Given the description of an element on the screen output the (x, y) to click on. 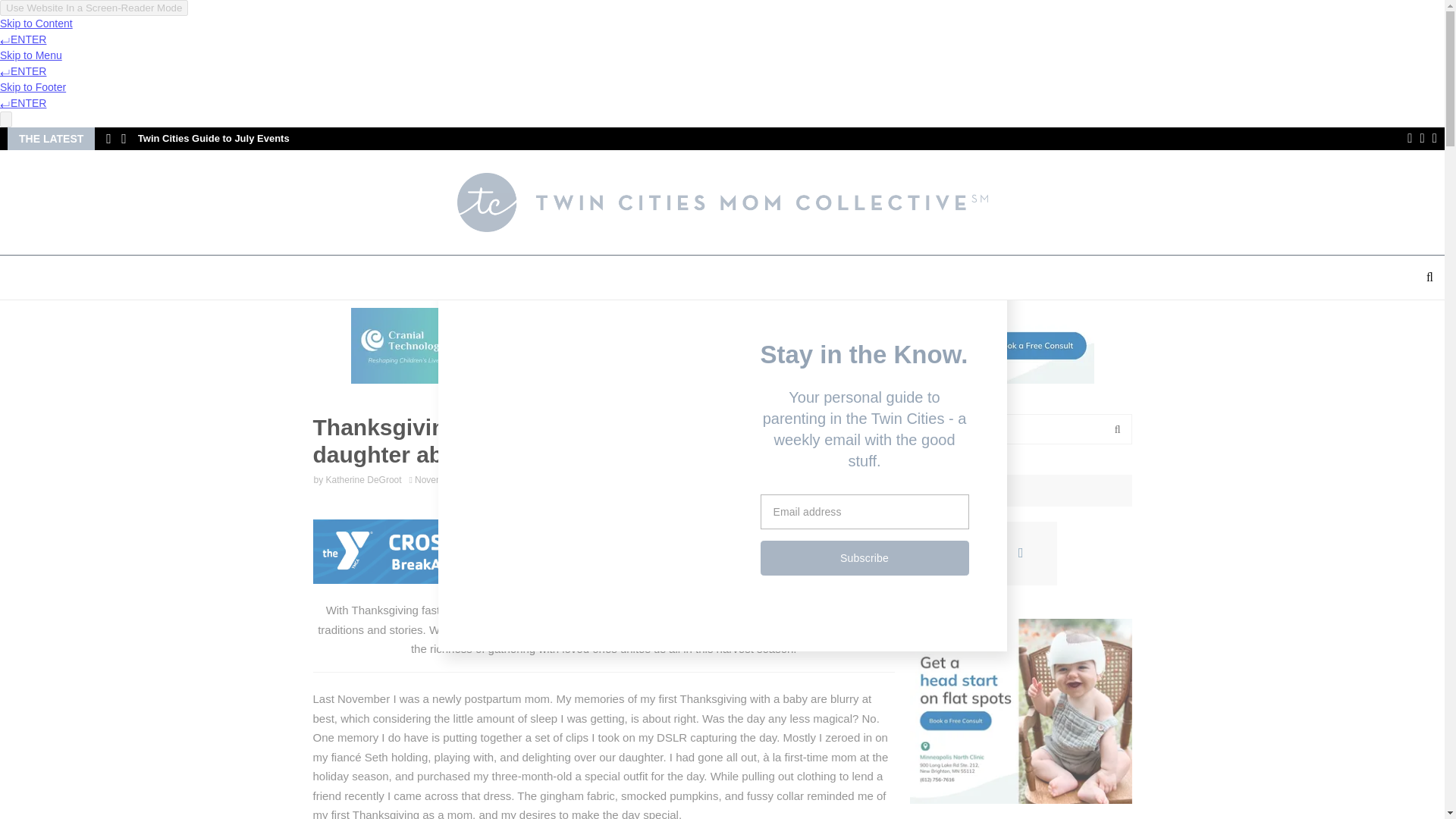
EVENT CALENDAR (658, 277)
THINGS TO DO (426, 277)
GO, SEE, EXPLORE! (537, 277)
GUIDES (753, 277)
Twin Cities Guide to July Events (213, 138)
